Given the description of an element on the screen output the (x, y) to click on. 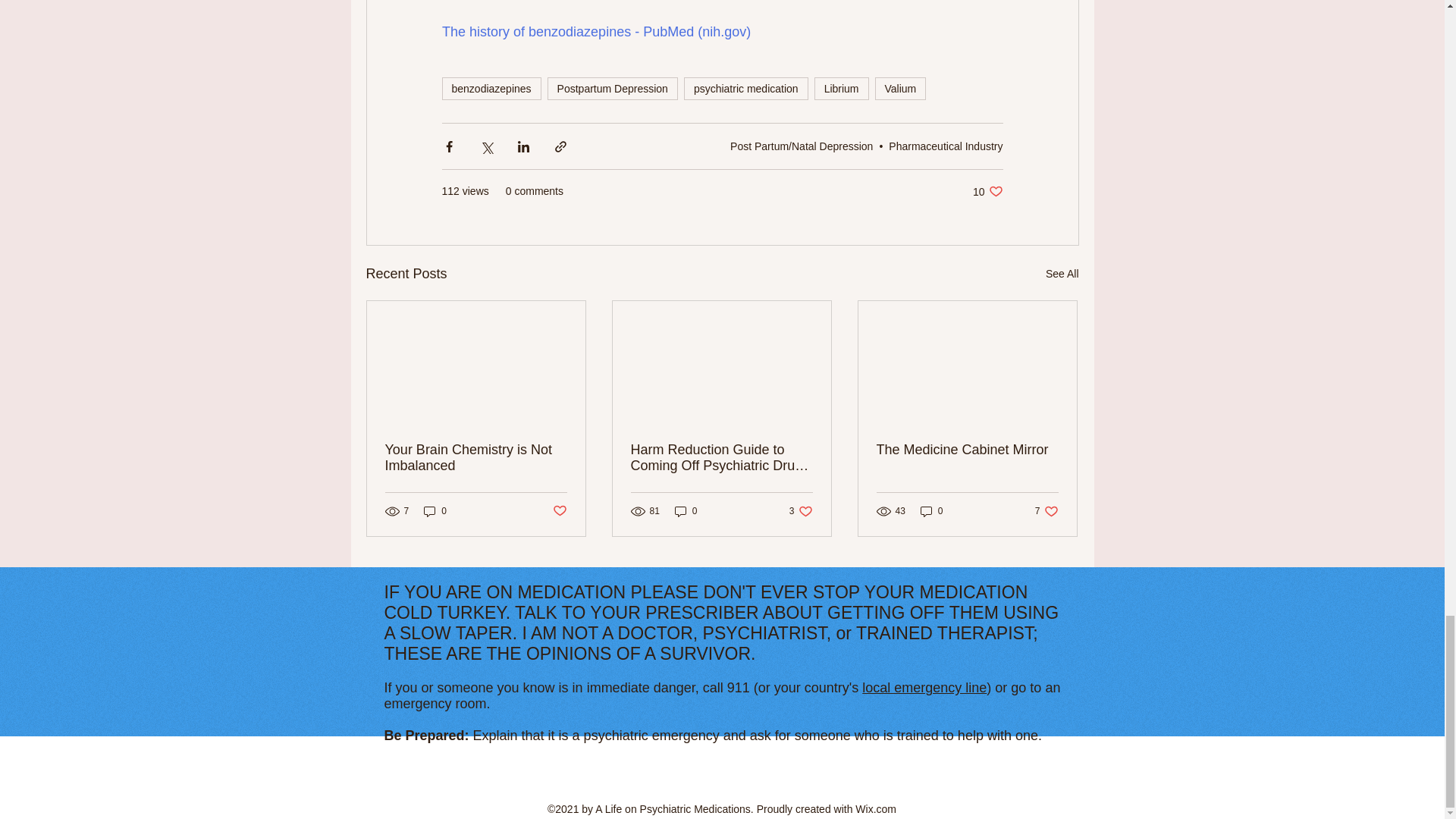
See All (1061, 273)
Pharmaceutical Industry (945, 146)
Librium (841, 87)
benzodiazepines (490, 87)
Postpartum Depression (987, 191)
0 (612, 87)
Valium (435, 511)
psychiatric medication (900, 87)
Post not marked as liked (746, 87)
Your Brain Chemistry is Not Imbalanced (558, 511)
